Given the description of an element on the screen output the (x, y) to click on. 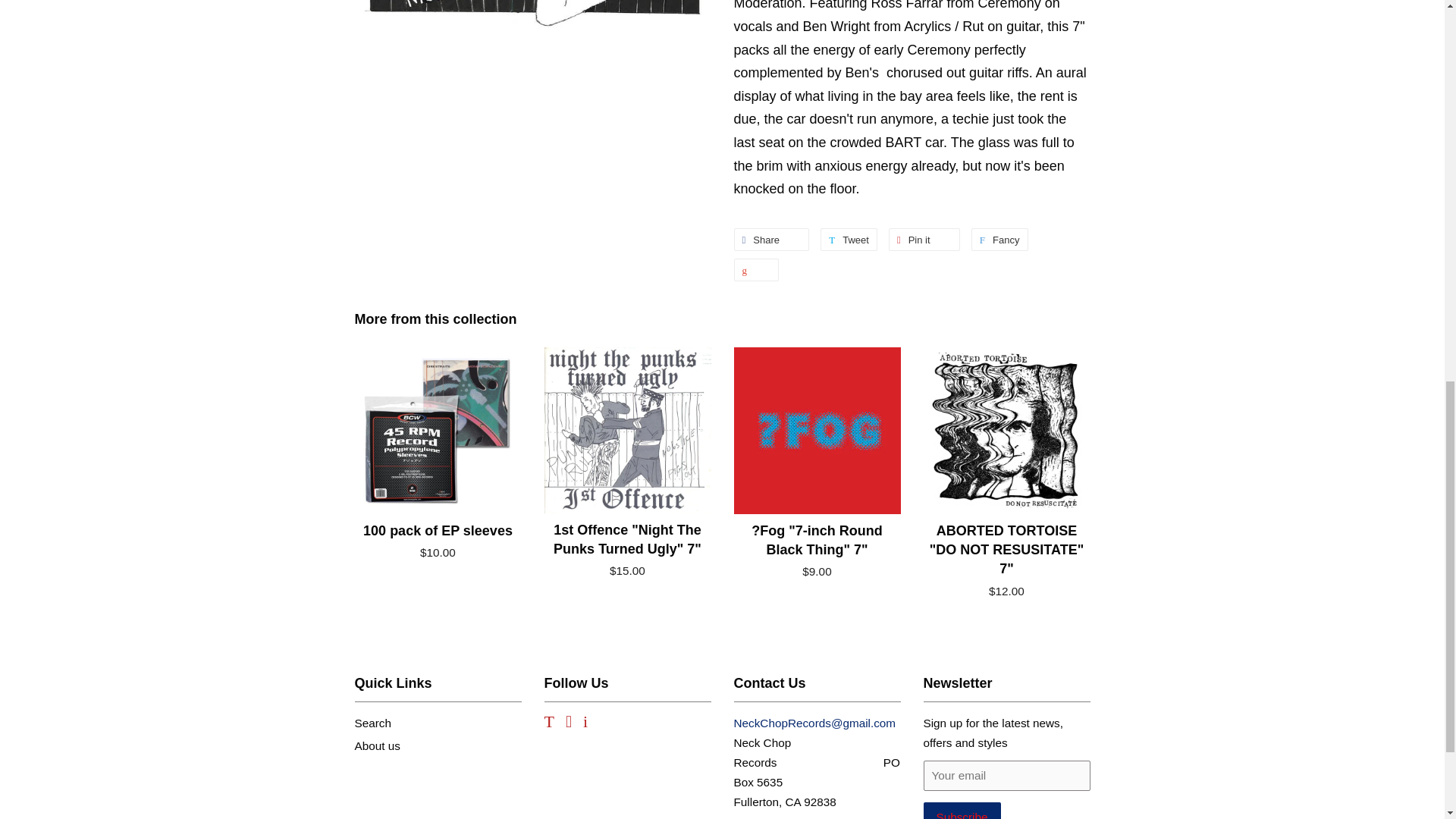
Pin on Pinterest (999, 239)
Tweet on Twitter (771, 239)
Subscribe (849, 239)
Add to Fancy (923, 239)
Share on Facebook (849, 239)
